Given the description of an element on the screen output the (x, y) to click on. 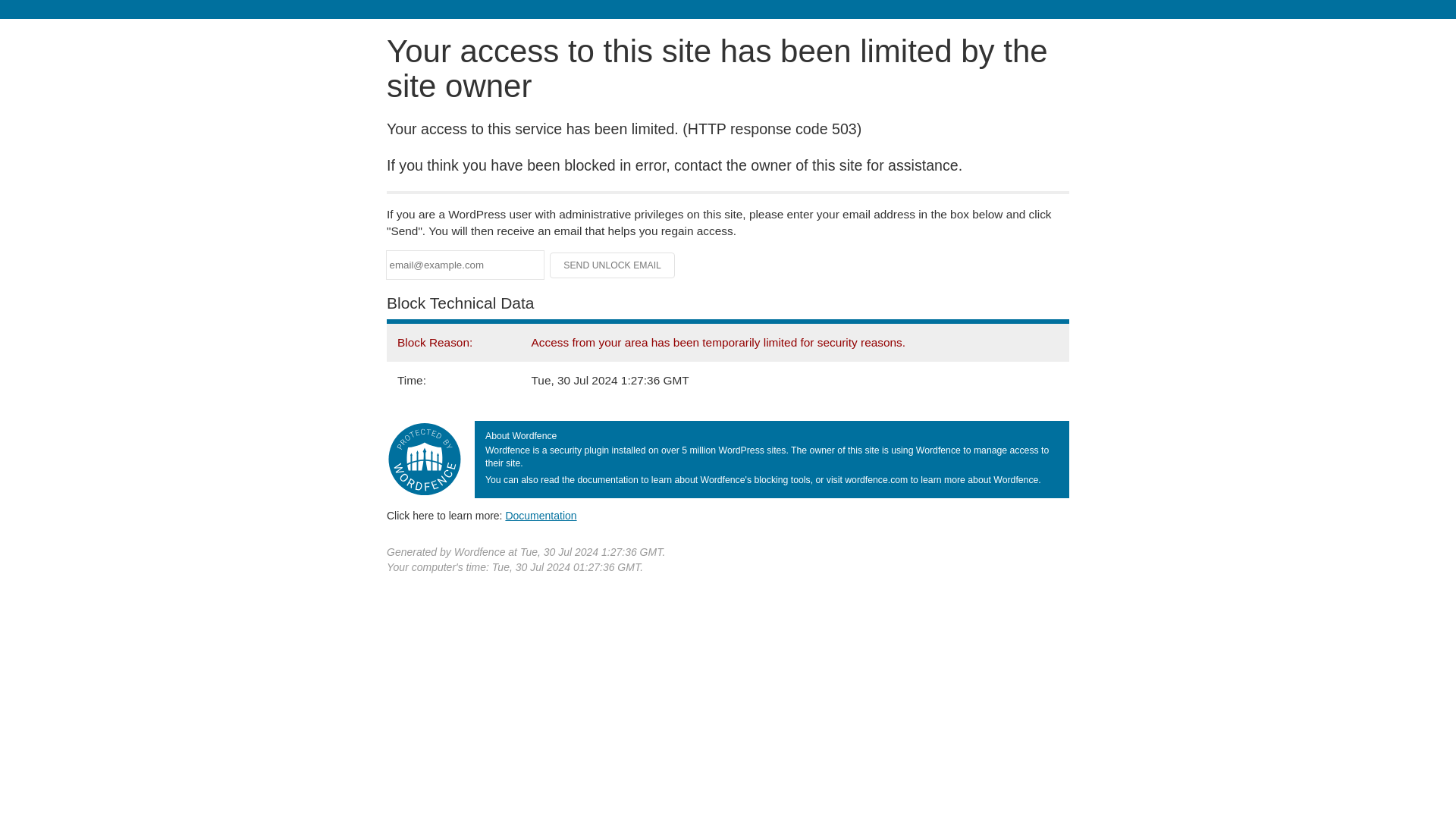
Send Unlock Email (612, 265)
Send Unlock Email (612, 265)
Documentation (540, 515)
